Given the description of an element on the screen output the (x, y) to click on. 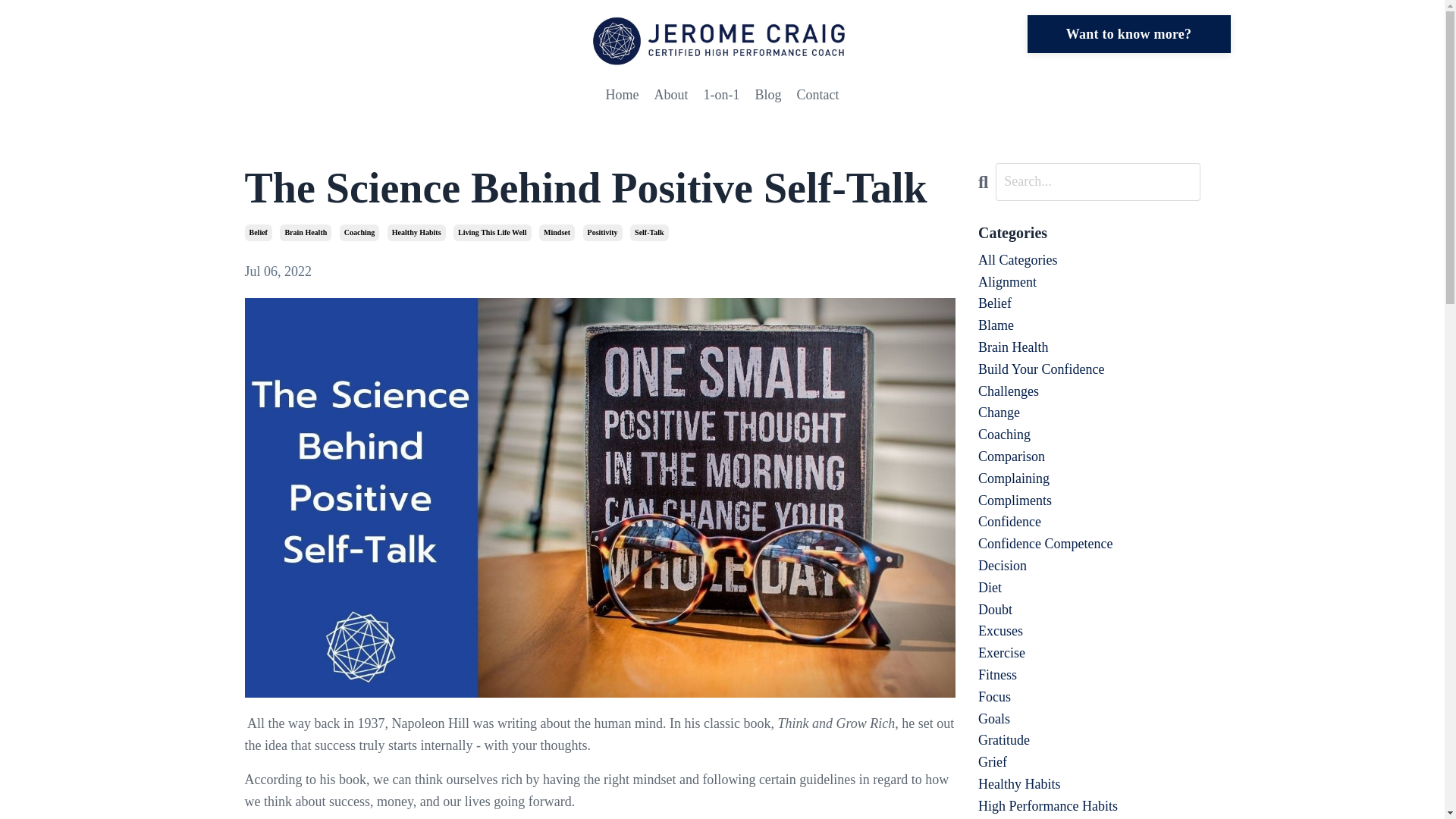
Blog (767, 95)
Fitness (1088, 675)
Home (622, 95)
Compliments (1088, 500)
Coaching (359, 232)
Change (1088, 413)
Living This Life Well (491, 232)
Exercise (1088, 653)
Challenges (1088, 391)
1-on-1 (721, 95)
Brain Health (305, 232)
Confidence Competence (1088, 544)
All Categories (1088, 260)
Excuses (1088, 630)
Positivity (603, 232)
